Given the description of an element on the screen output the (x, y) to click on. 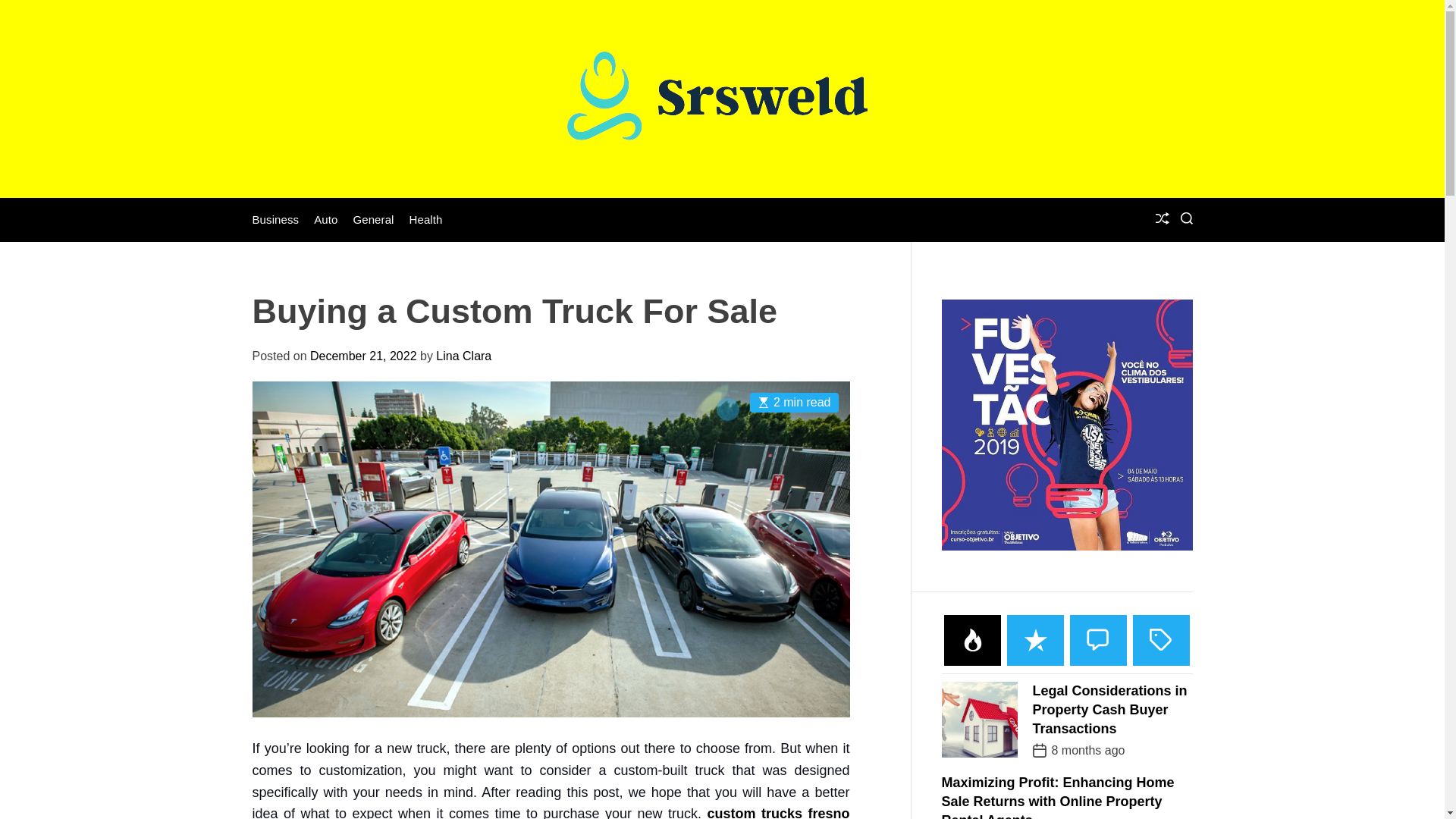
Health (425, 219)
POPULAR (972, 640)
Lina Clara (463, 355)
Auto (325, 219)
December 21, 2022 (363, 355)
SHUFFLE (1162, 220)
custom trucks fresno (777, 812)
COMMENTS (1098, 640)
Business (274, 219)
SEARCH (1185, 220)
RECENT (1035, 640)
General (372, 219)
